Given the description of an element on the screen output the (x, y) to click on. 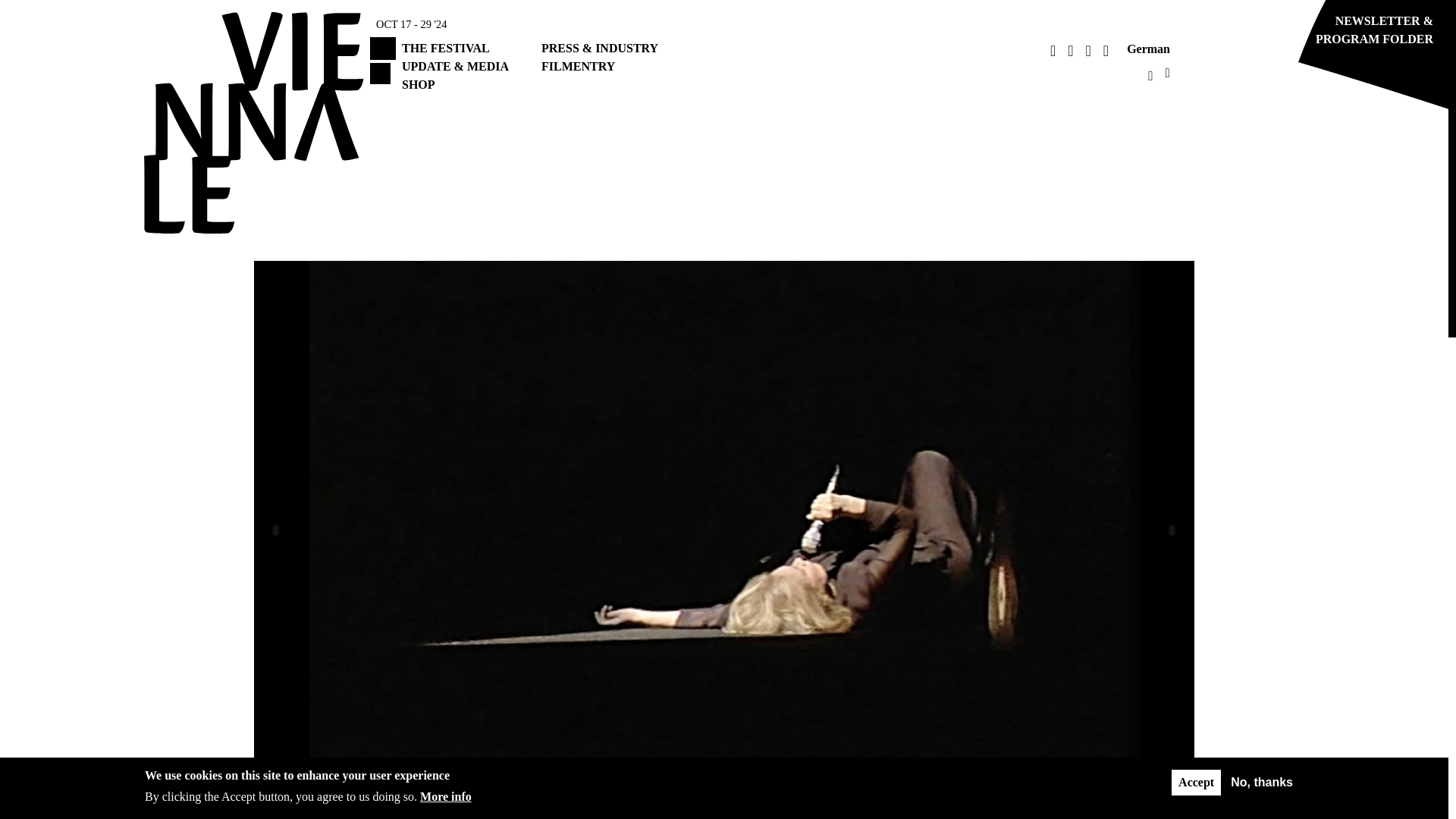
Search (890, 86)
THE FESTIVAL (445, 47)
1 (698, 779)
FILMENTRY (577, 65)
SHOP (418, 83)
German (1148, 48)
